Given the description of an element on the screen output the (x, y) to click on. 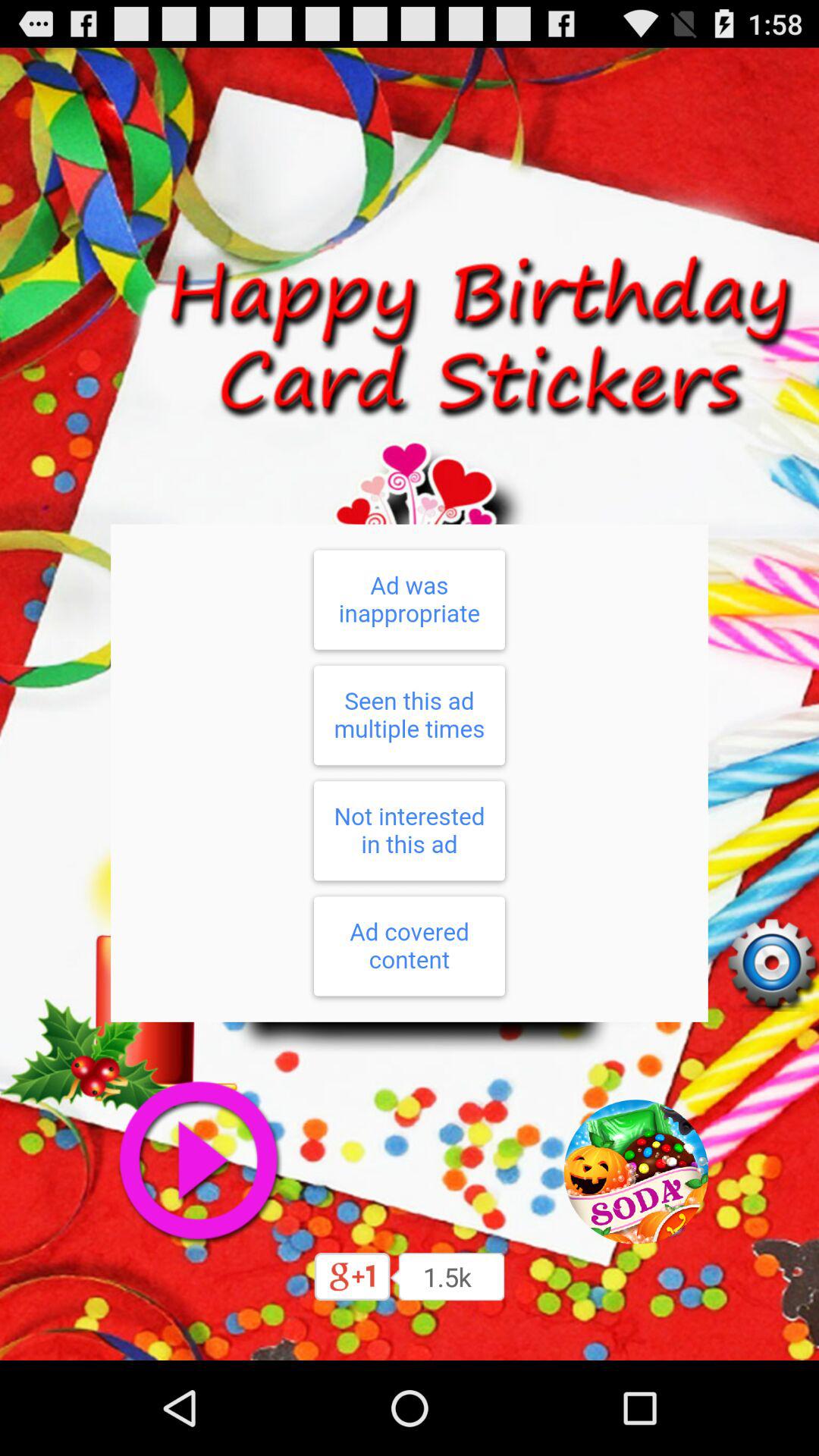
advertisement options (409, 773)
